Given the description of an element on the screen output the (x, y) to click on. 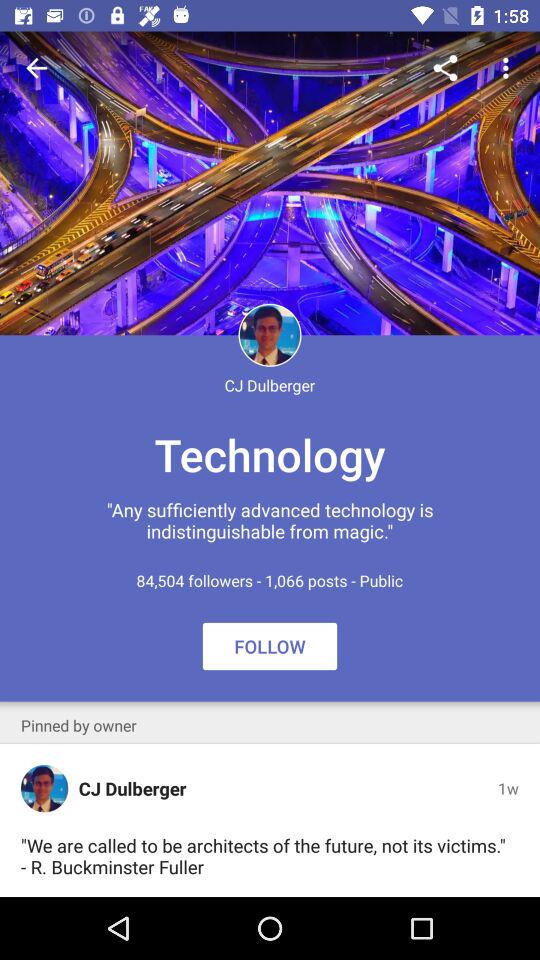
turn off the icon above technology icon (508, 67)
